Given the description of an element on the screen output the (x, y) to click on. 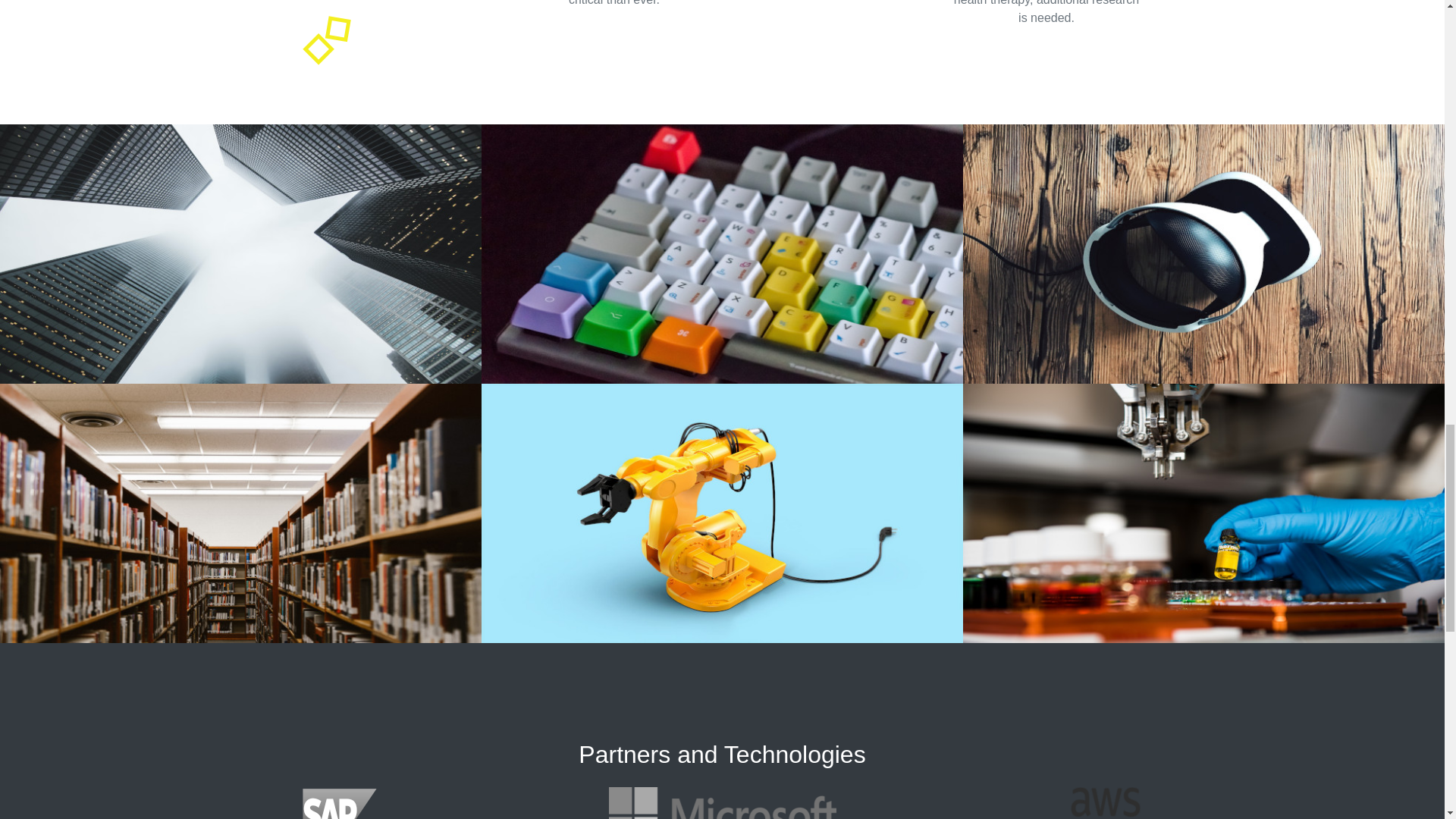
Amazon (1104, 803)
SAP (339, 803)
Microsoft (721, 803)
